Given the description of an element on the screen output the (x, y) to click on. 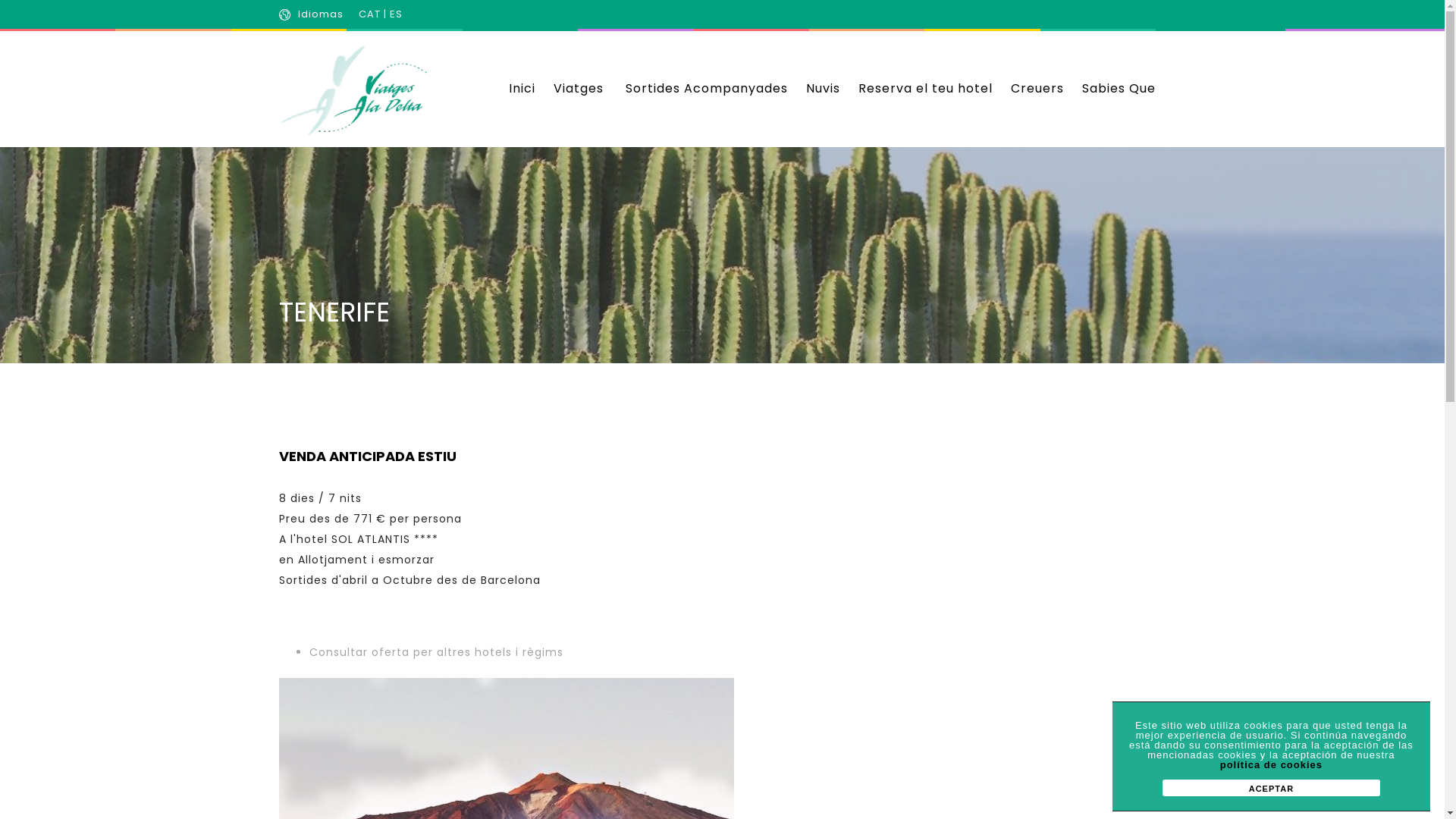
Search Element type: text (969, 409)
Inici Element type: text (521, 88)
Nuvis Element type: text (822, 88)
Idiomas Element type: text (319, 13)
ES Element type: text (395, 13)
ACEPTAR Element type: text (1271, 787)
Creuers Element type: text (1036, 88)
CAT | Element type: text (373, 13)
Sabies Que Element type: text (1117, 88)
Viatges Element type: text (578, 88)
Reserva el teu hotel Element type: text (925, 88)
Sortides Acompanyades Element type: text (705, 88)
